Given the description of an element on the screen output the (x, y) to click on. 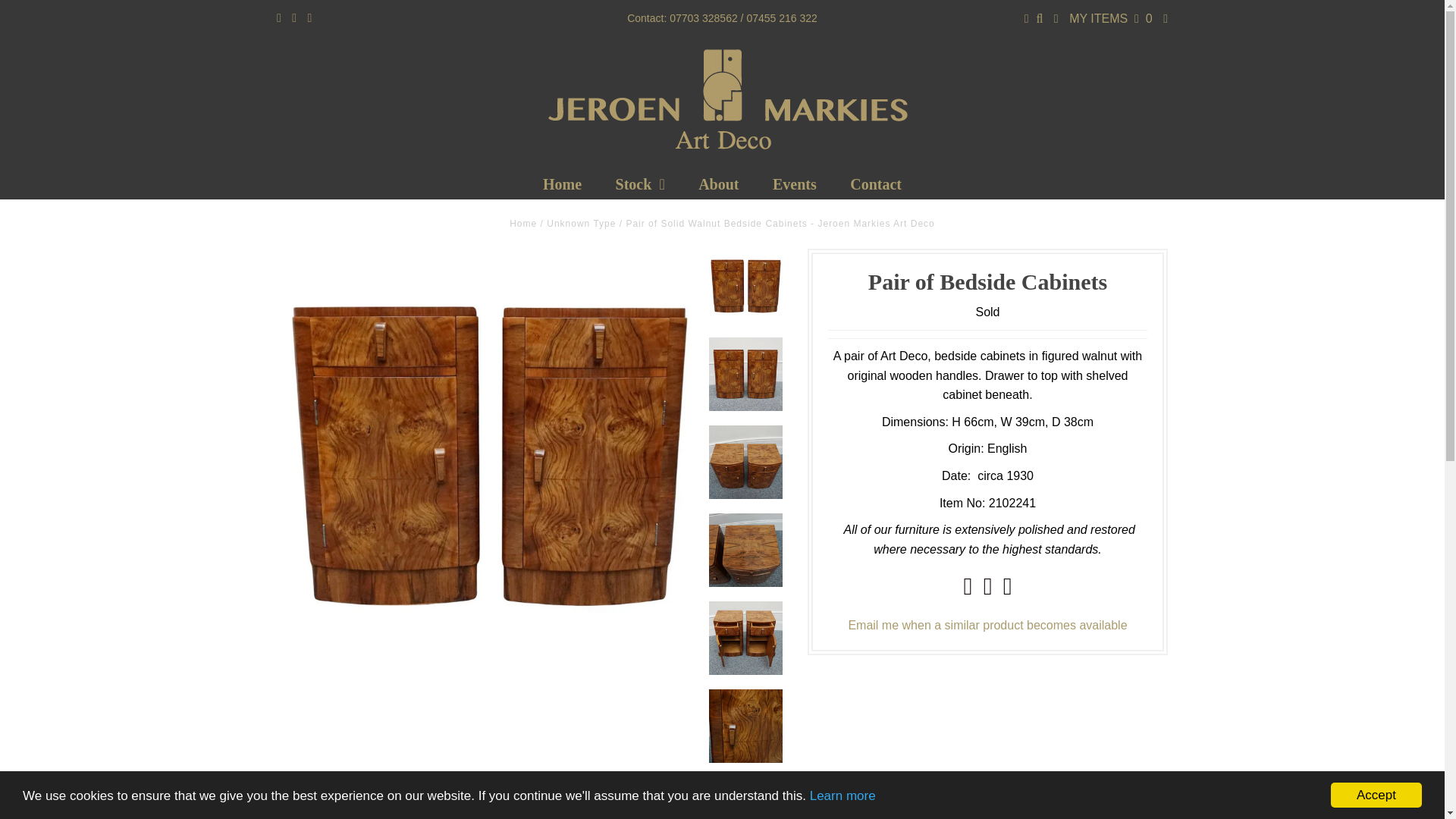
Stock (639, 183)
MY ITEMS    0 (1110, 18)
Home (561, 183)
Home (523, 223)
